Given the description of an element on the screen output the (x, y) to click on. 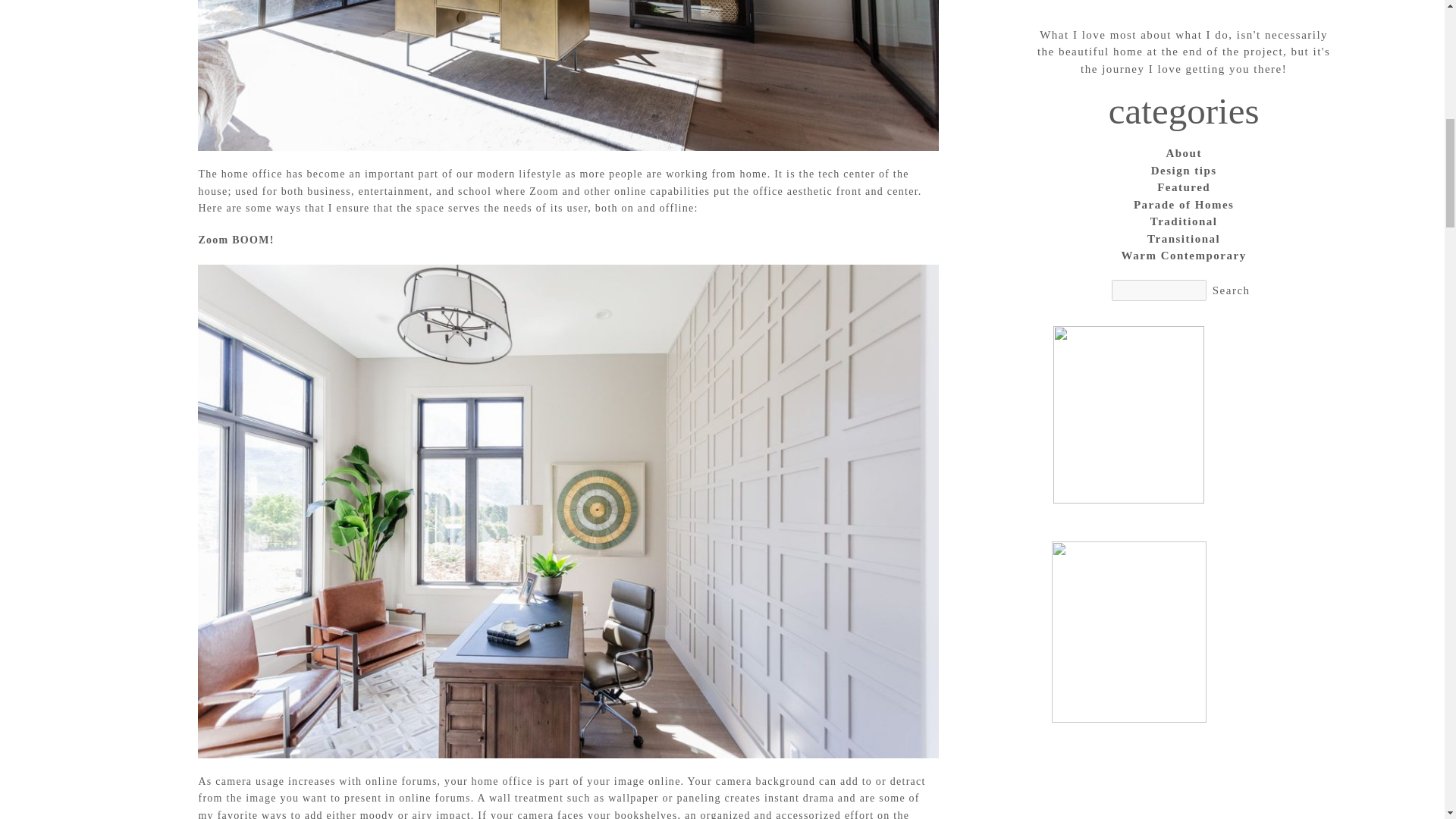
Featured (1183, 187)
Transitional (1183, 239)
Search (1231, 290)
Search (1231, 290)
Traditional (1183, 221)
About (1183, 153)
Warm Contemporary (1183, 255)
Parade of Homes (1183, 204)
Search (1231, 290)
Design tips (1183, 170)
